Given the description of an element on the screen output the (x, y) to click on. 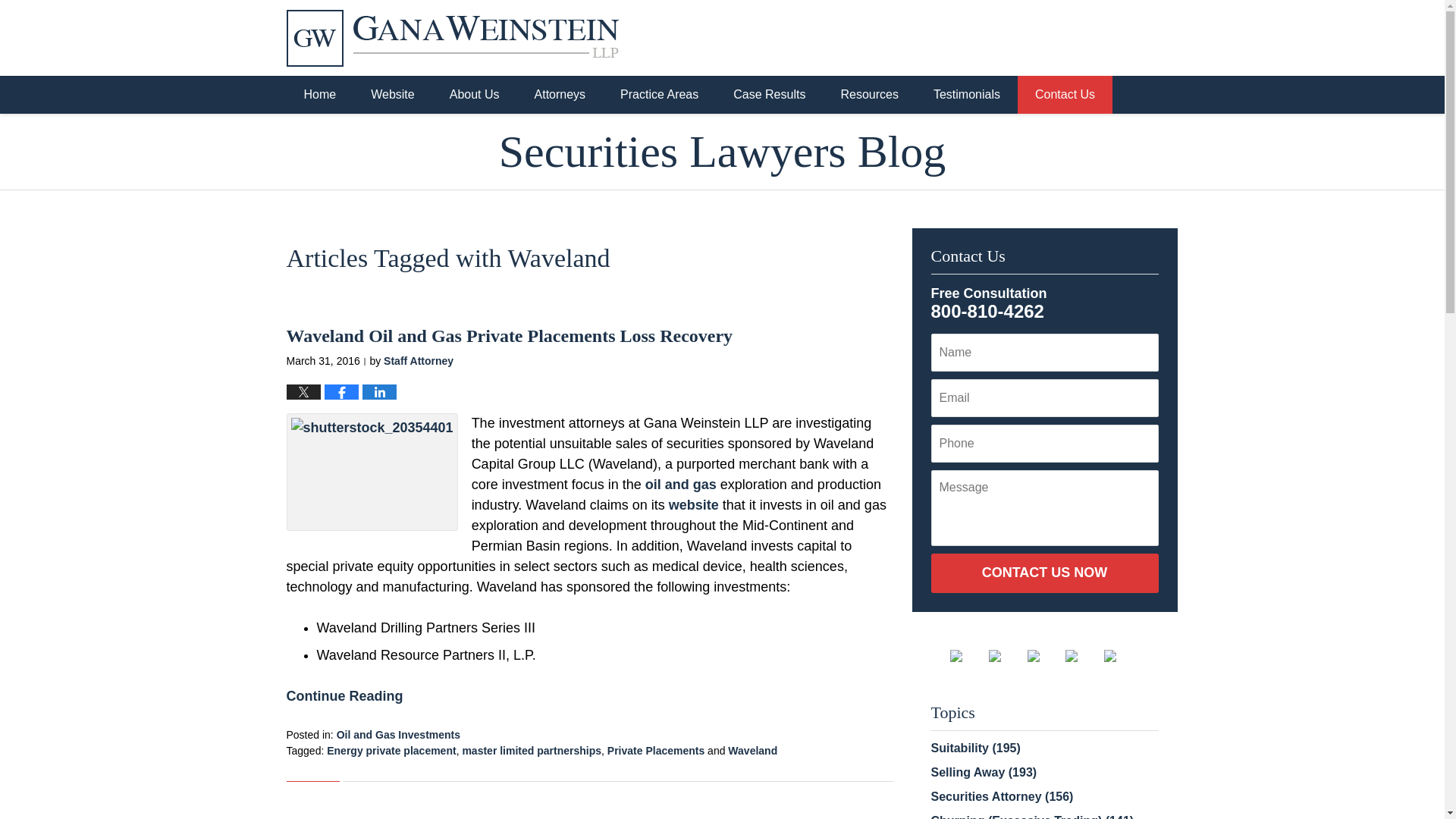
Published By Gana Weinstein LLP (1079, 37)
Energy private placement (390, 750)
Please enter a valid phone number. (1044, 443)
Facebook (967, 655)
Case Results (769, 94)
View all posts tagged with Private Placements (655, 750)
About Us (474, 94)
Practice Areas (659, 94)
Home (319, 94)
Waveland (752, 750)
CONTACT US NOW (1044, 572)
website (693, 504)
Continue Reading (344, 695)
